Given the description of an element on the screen output the (x, y) to click on. 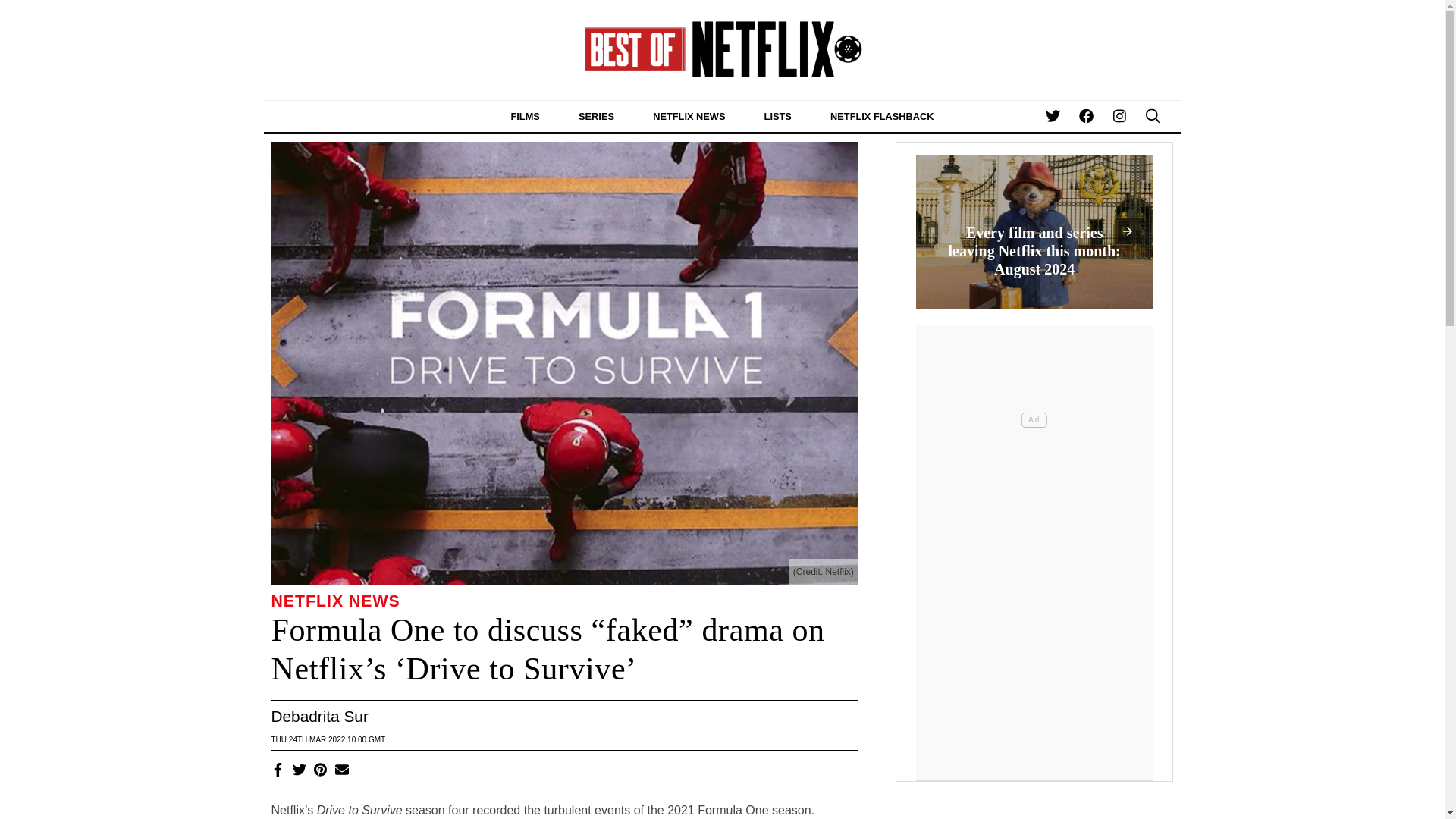
Debadrita Sur (319, 715)
SERIES (596, 115)
NETFLIX FLASHBACK (881, 115)
Posts by Debadrita Sur (319, 715)
NETFLIX NEWS (335, 601)
NETFLIX NEWS (688, 115)
LISTS (777, 115)
FILMS (525, 115)
